Given the description of an element on the screen output the (x, y) to click on. 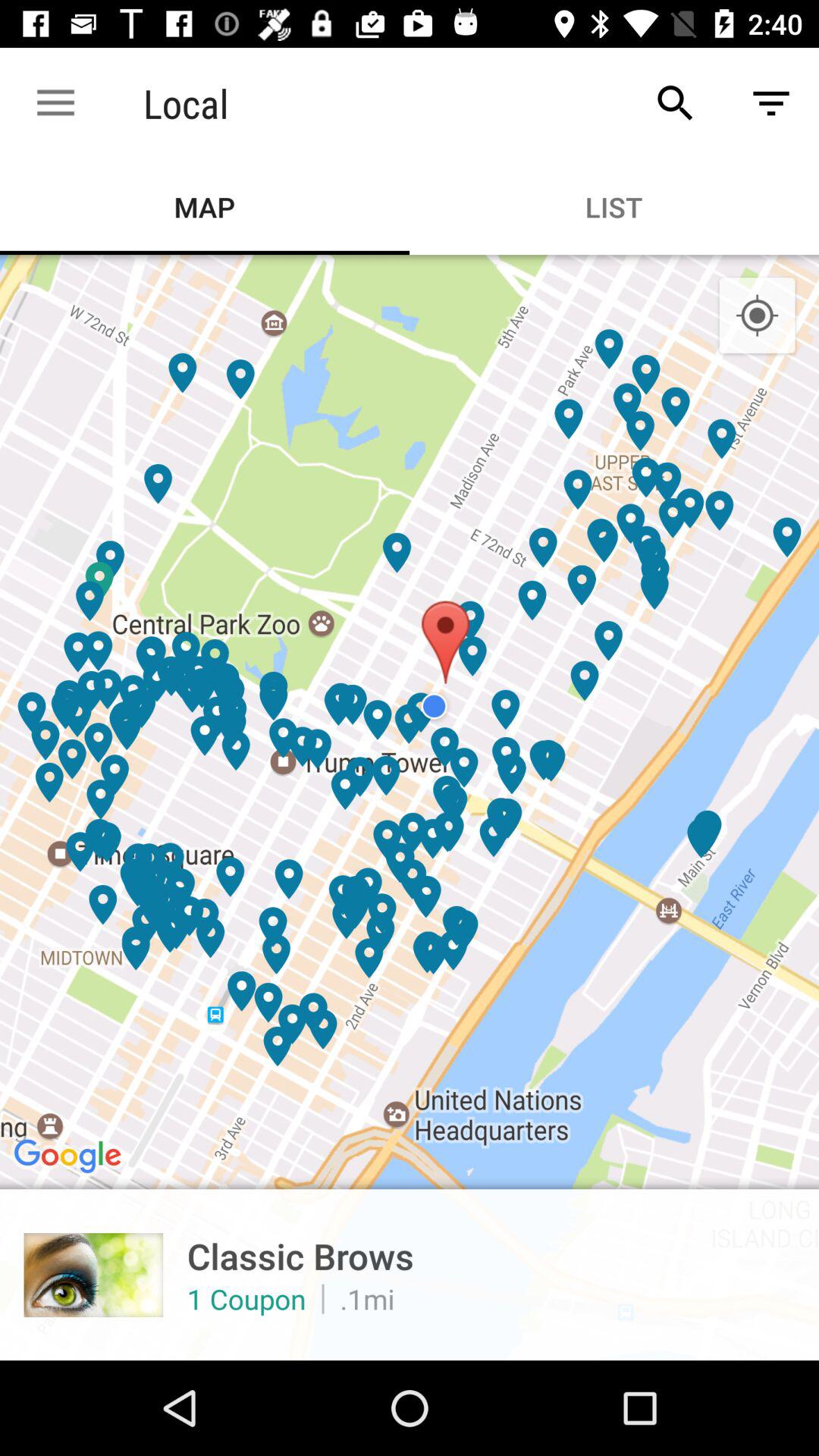
tap the icon below map item (409, 807)
